Given the description of an element on the screen output the (x, y) to click on. 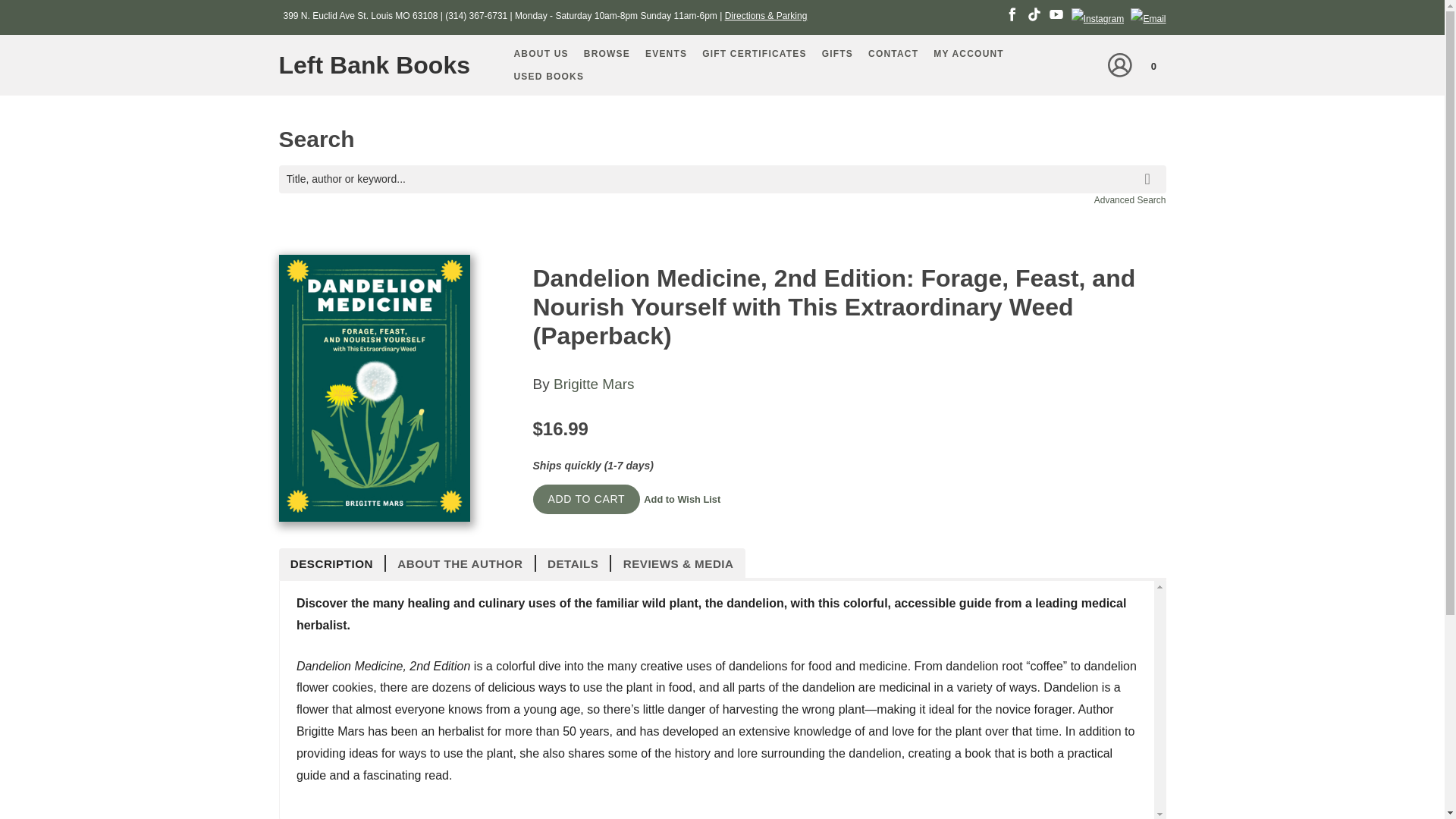
Home (381, 64)
EVENTS (665, 53)
Title, author or keyword... (722, 179)
T-Shirts, Gifts and More (836, 53)
GIFTS (836, 53)
Left Bank Books (381, 64)
GIFT CERTIFICATES (753, 53)
BROWSE (606, 53)
search (1150, 167)
